Given the description of an element on the screen output the (x, y) to click on. 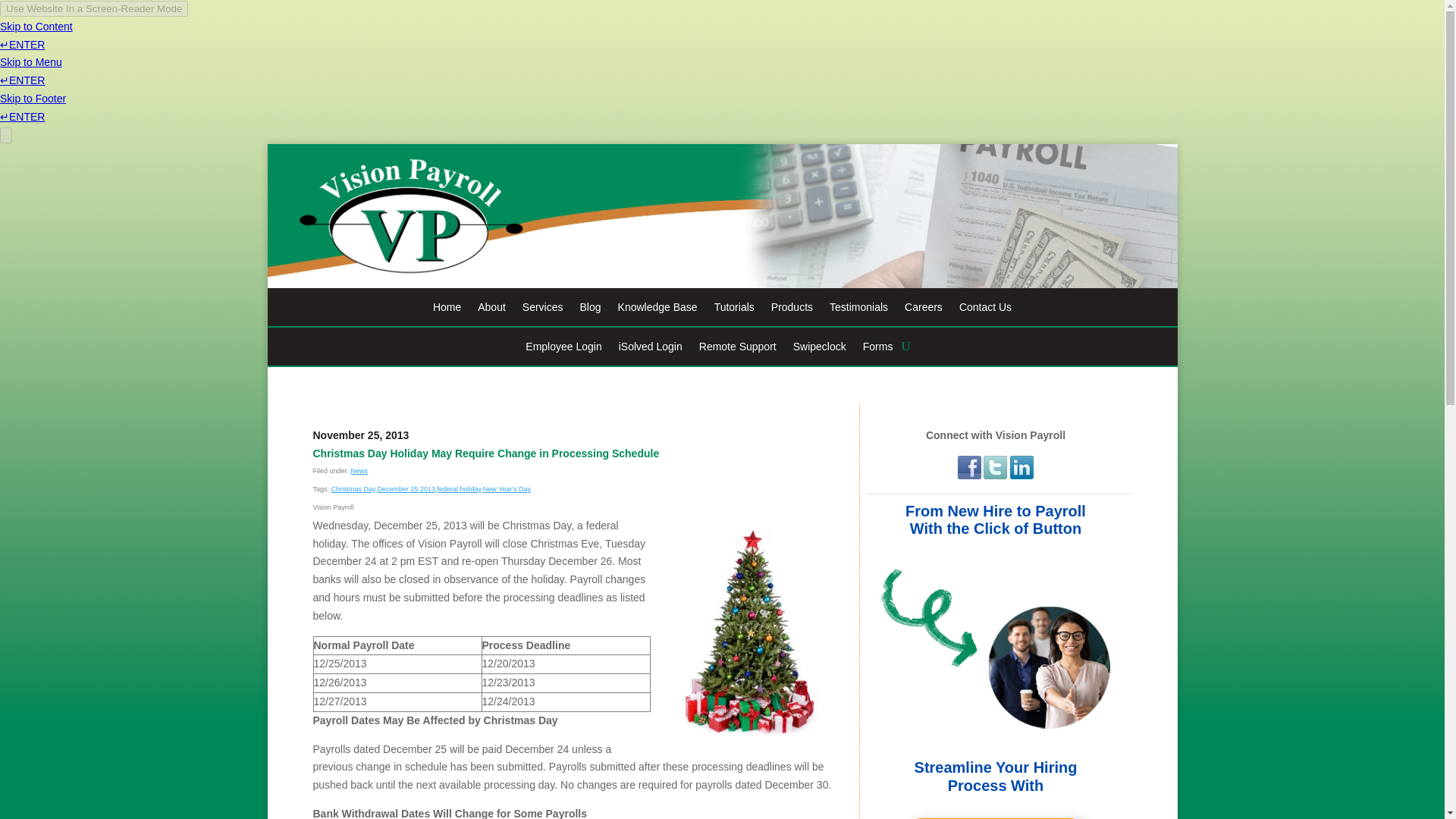
Swipeclock (819, 349)
Tutorials (734, 310)
Careers (923, 310)
Forms (878, 349)
Testimonials (858, 310)
iSolved Login (650, 349)
Blog (590, 310)
Remote Support (737, 349)
Products (791, 310)
sidebarimage (996, 648)
Employee Login (563, 349)
About (491, 310)
Home (446, 310)
Knowledge Base (657, 310)
